Given the description of an element on the screen output the (x, y) to click on. 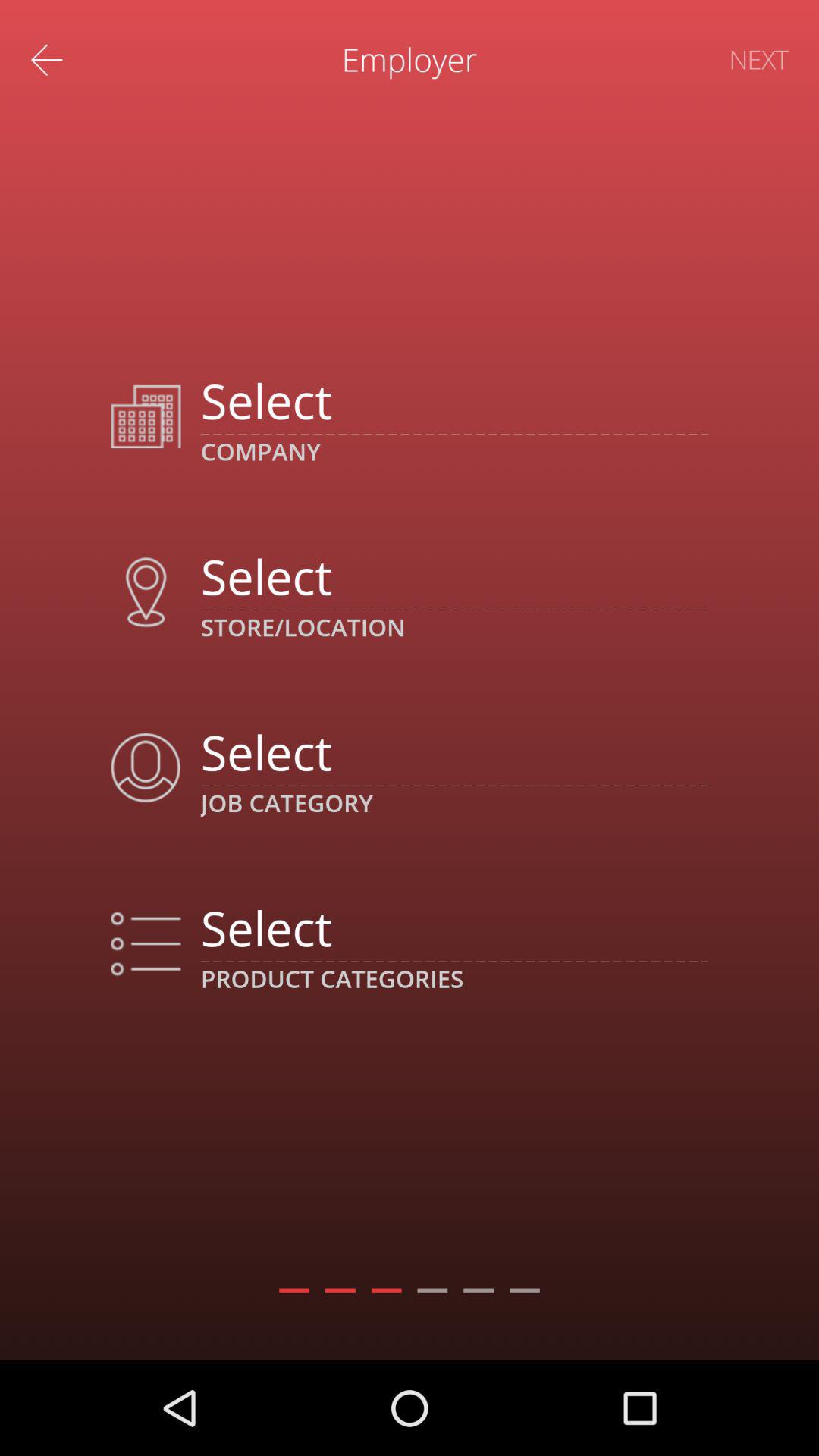
select company (454, 400)
